Given the description of an element on the screen output the (x, y) to click on. 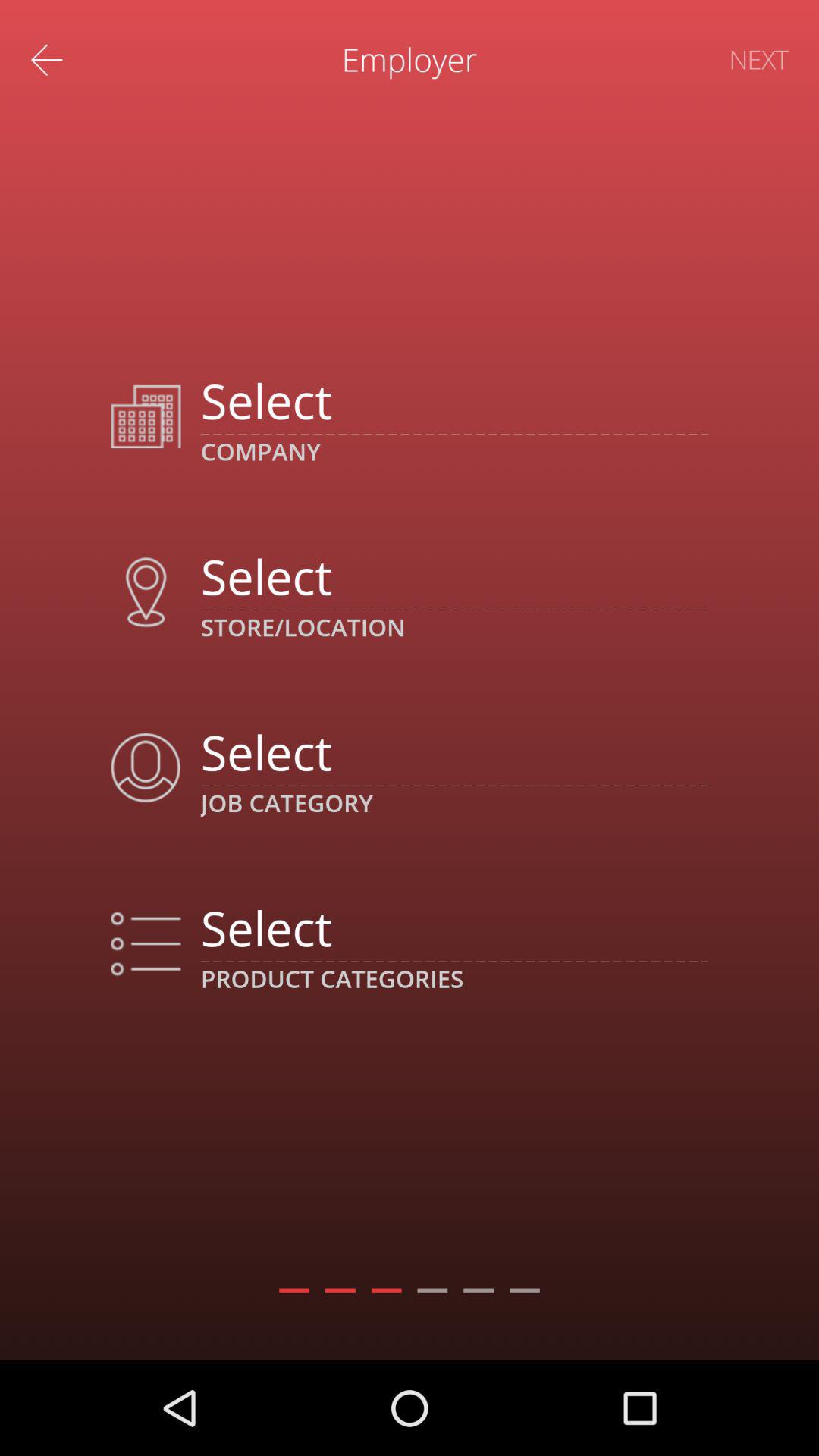
select company (454, 400)
